Given the description of an element on the screen output the (x, y) to click on. 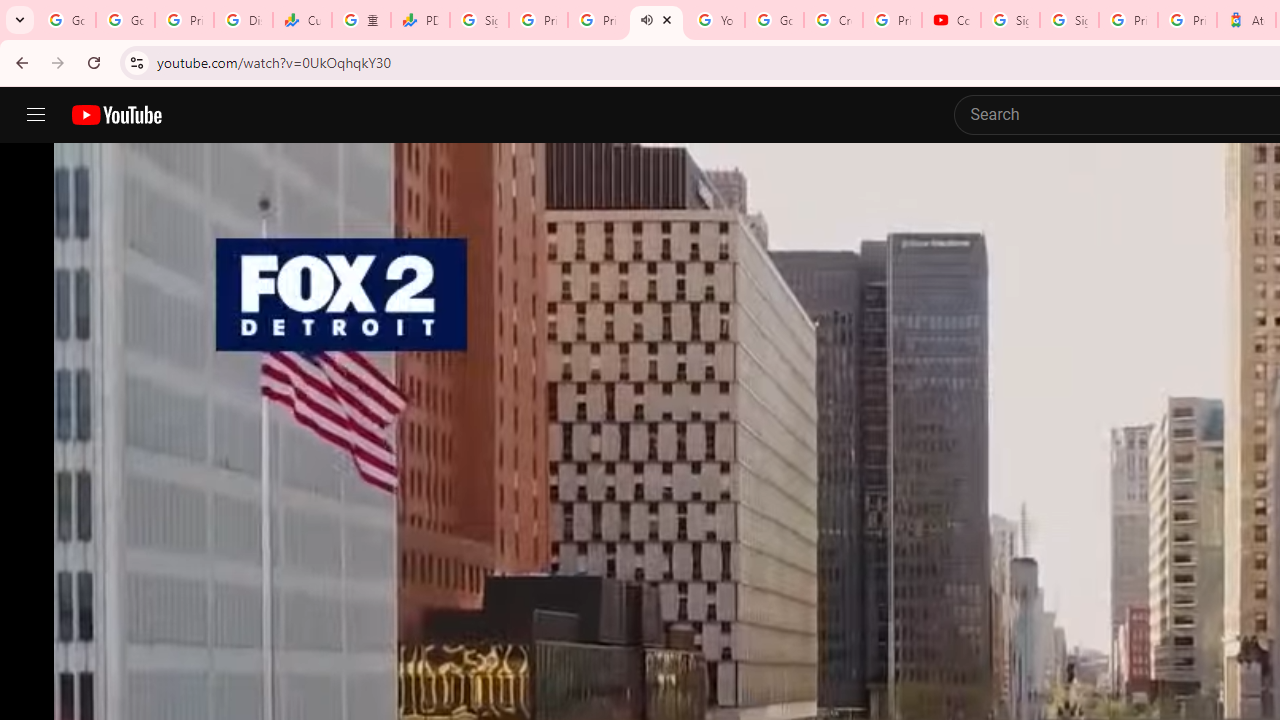
Currencies - Google Finance (301, 20)
Content Creator Programs & Opportunities - YouTube Creators (950, 20)
PDD Holdings Inc - ADR (PDD) Price & News - Google Finance (420, 20)
YouTube (715, 20)
